Given the description of an element on the screen output the (x, y) to click on. 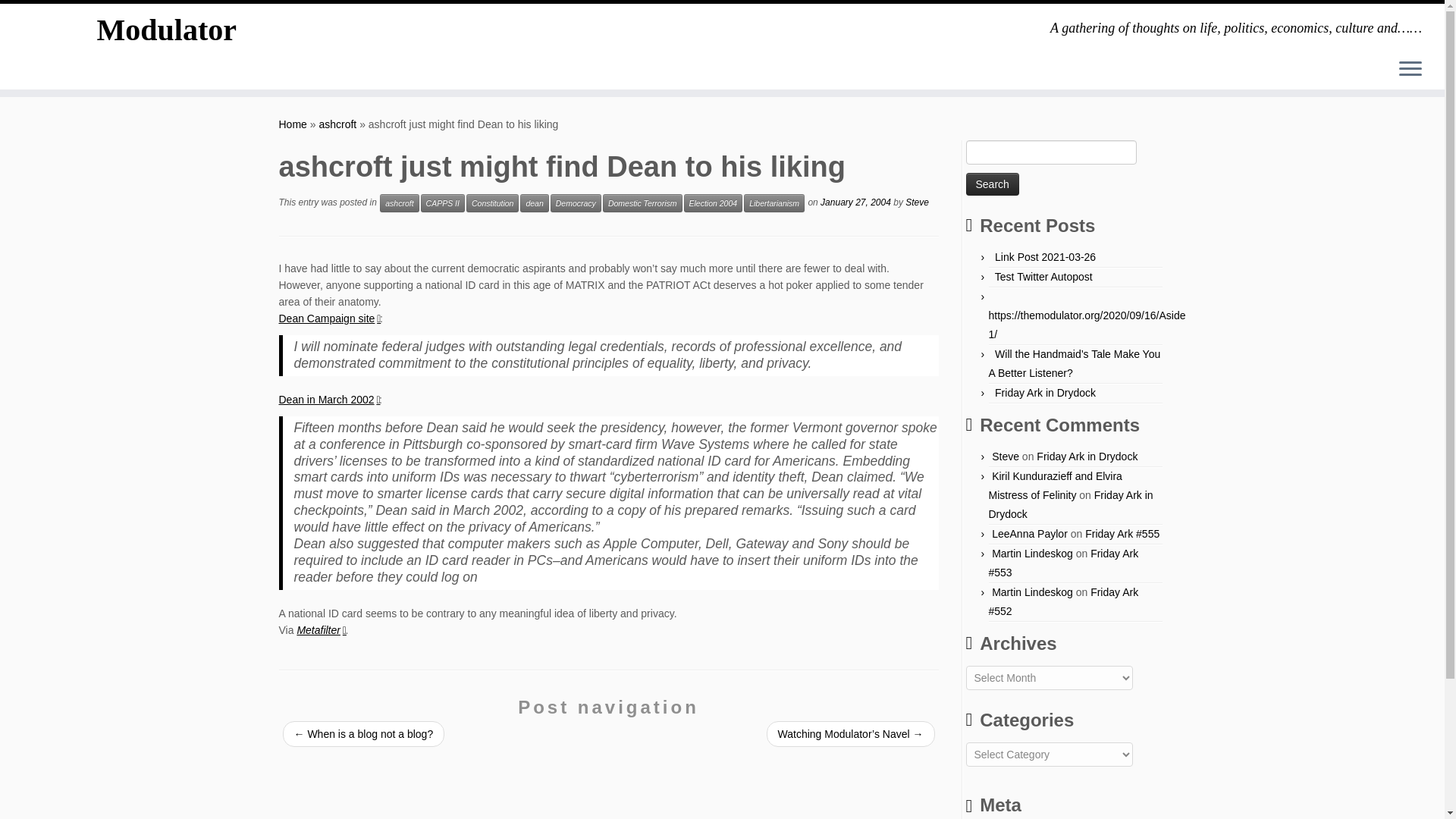
Martin Lindeskog (1032, 592)
View all posts in Democracy (575, 203)
Dean Campaign site (329, 318)
View all posts in Constitution (491, 203)
ashcroft (399, 203)
Search (992, 183)
View all posts in Election 2004 (713, 203)
Friday Ark in Drydock (1086, 456)
LeeAnna Paylor (1029, 533)
Modulator (293, 123)
